Given the description of an element on the screen output the (x, y) to click on. 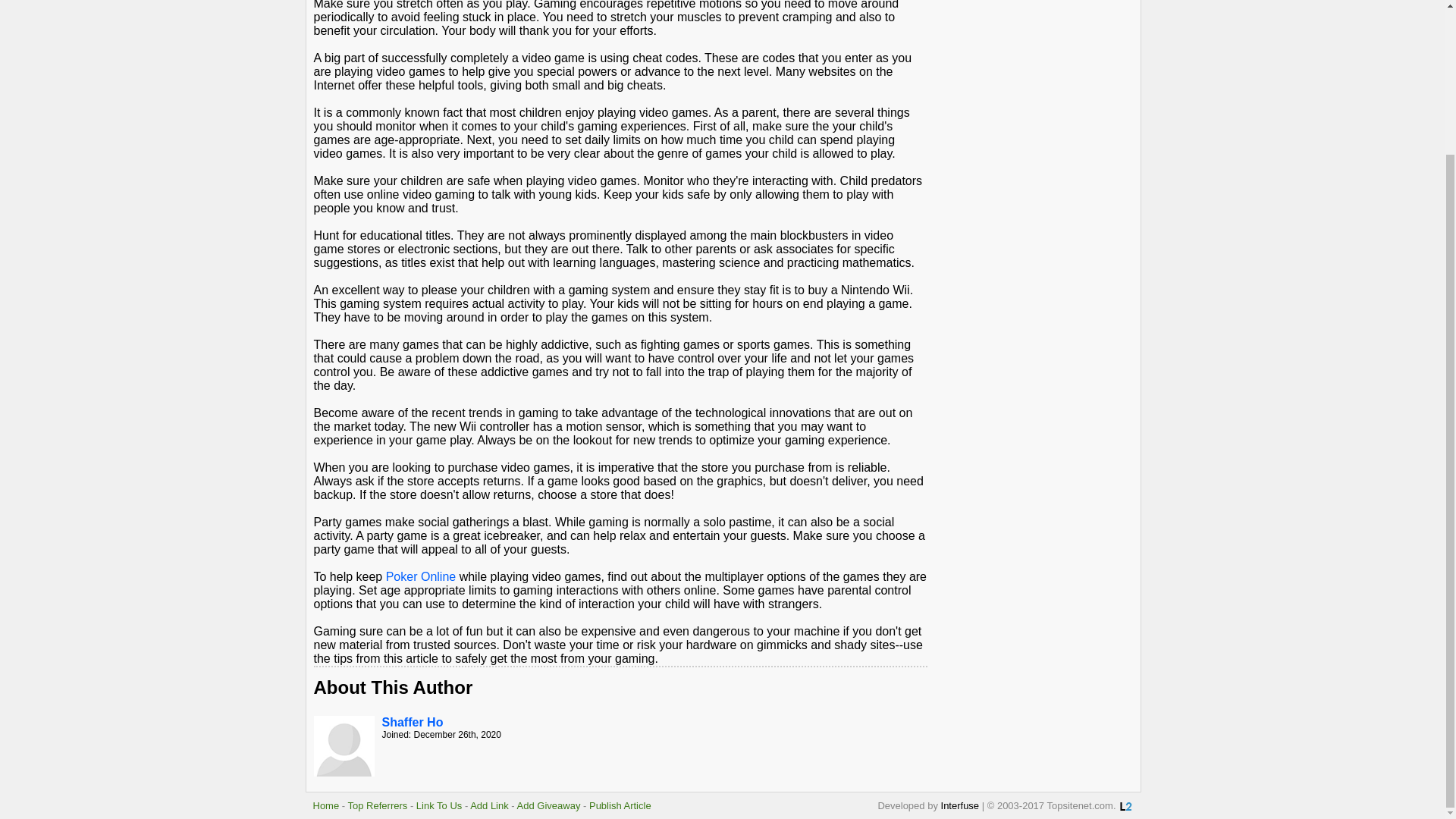
Poker Online (421, 576)
Add Giveaway (548, 805)
Link To Us (438, 805)
Interfuse (959, 805)
Top Referrers (377, 805)
Add Link (489, 805)
Link To Directory (1125, 807)
Topsitenet.com (326, 805)
Add Giveaway (548, 805)
Home (326, 805)
